Given the description of an element on the screen output the (x, y) to click on. 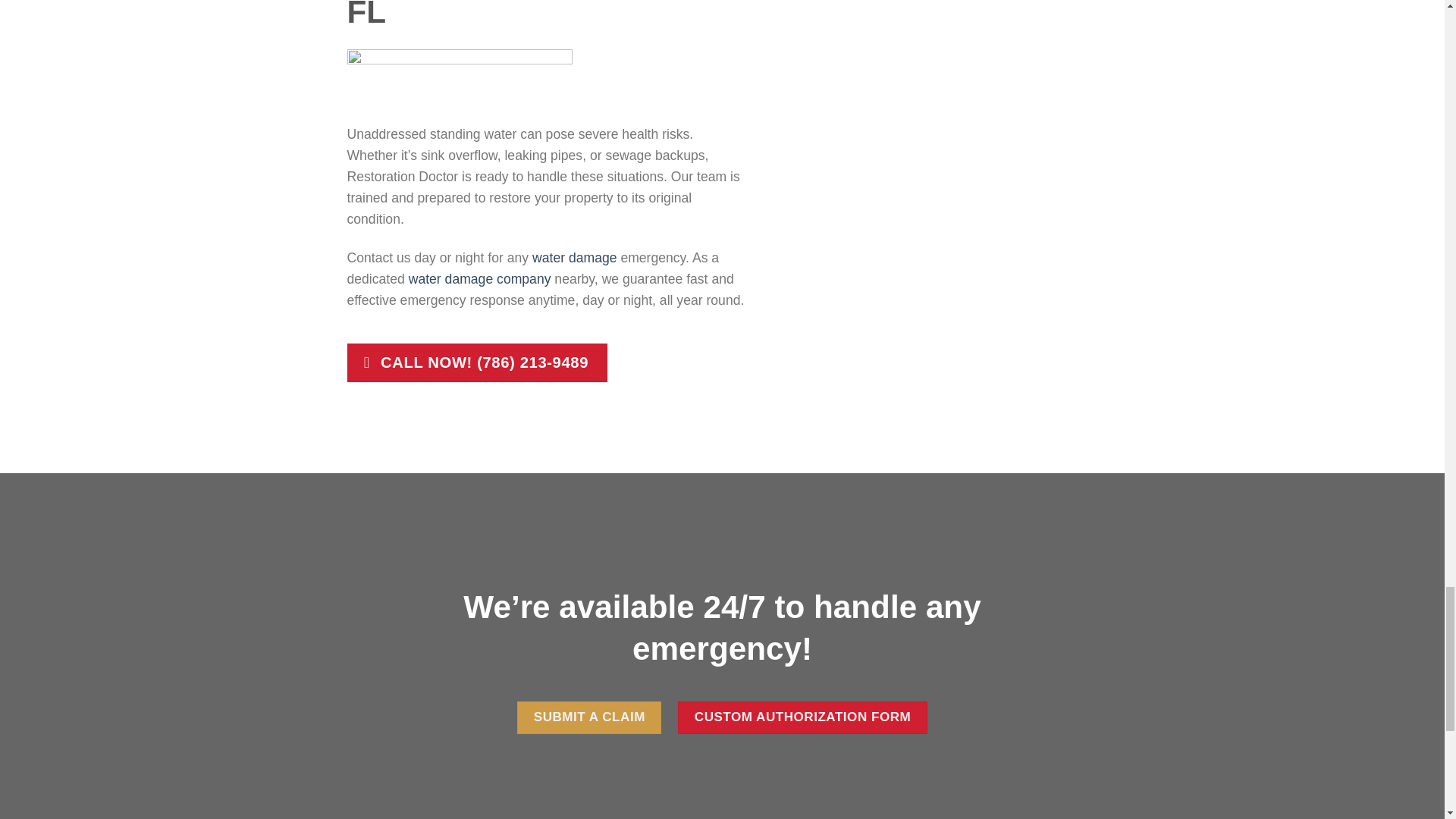
SUBMIT A CLAIM (588, 717)
CUSTOM AUTHORIZATION FORM (802, 717)
water damage (574, 257)
water damage company (480, 278)
